Given the description of an element on the screen output the (x, y) to click on. 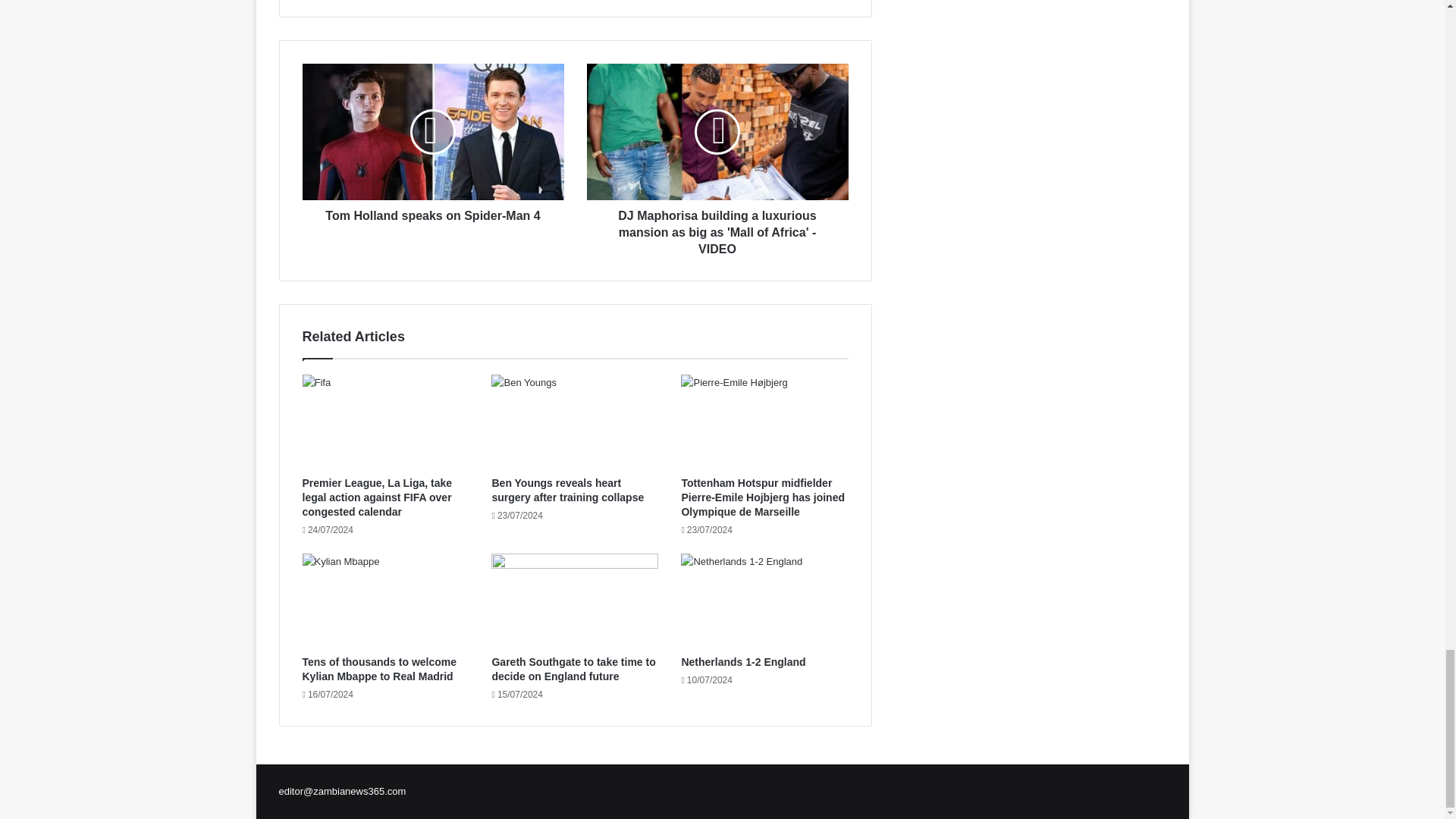
Tom Holland speaks on Spider-Man 4 (432, 211)
Tom Holland speaks on Spider-Man 4 (432, 131)
